Given the description of an element on the screen output the (x, y) to click on. 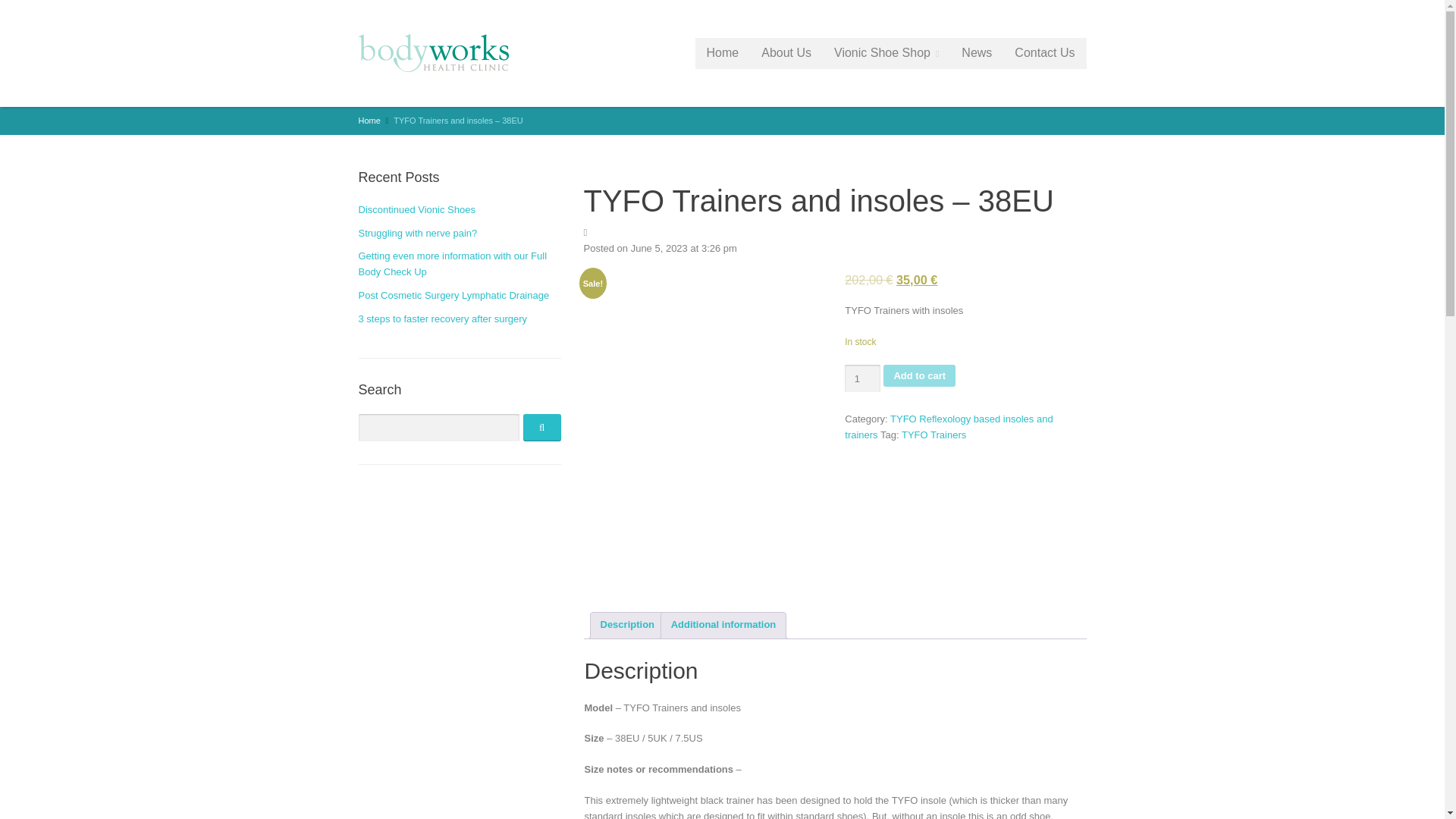
Home (723, 52)
TYFO Reflexology based insoles and trainers (948, 426)
Vionic Shoe Shop (886, 52)
Post Cosmetic Surgery Lymphatic Drainage (453, 295)
3 steps to faster recovery after surgery (442, 318)
News (976, 52)
Getting even more information with our Full Body Check Up (452, 263)
Discontinued Vionic Shoes (416, 209)
Home (369, 120)
Description (627, 625)
Additional information (723, 625)
Contact Us (1044, 52)
About Us (785, 52)
TYFO Trainers (933, 434)
Struggling with nerve pain? (417, 233)
